Given the description of an element on the screen output the (x, y) to click on. 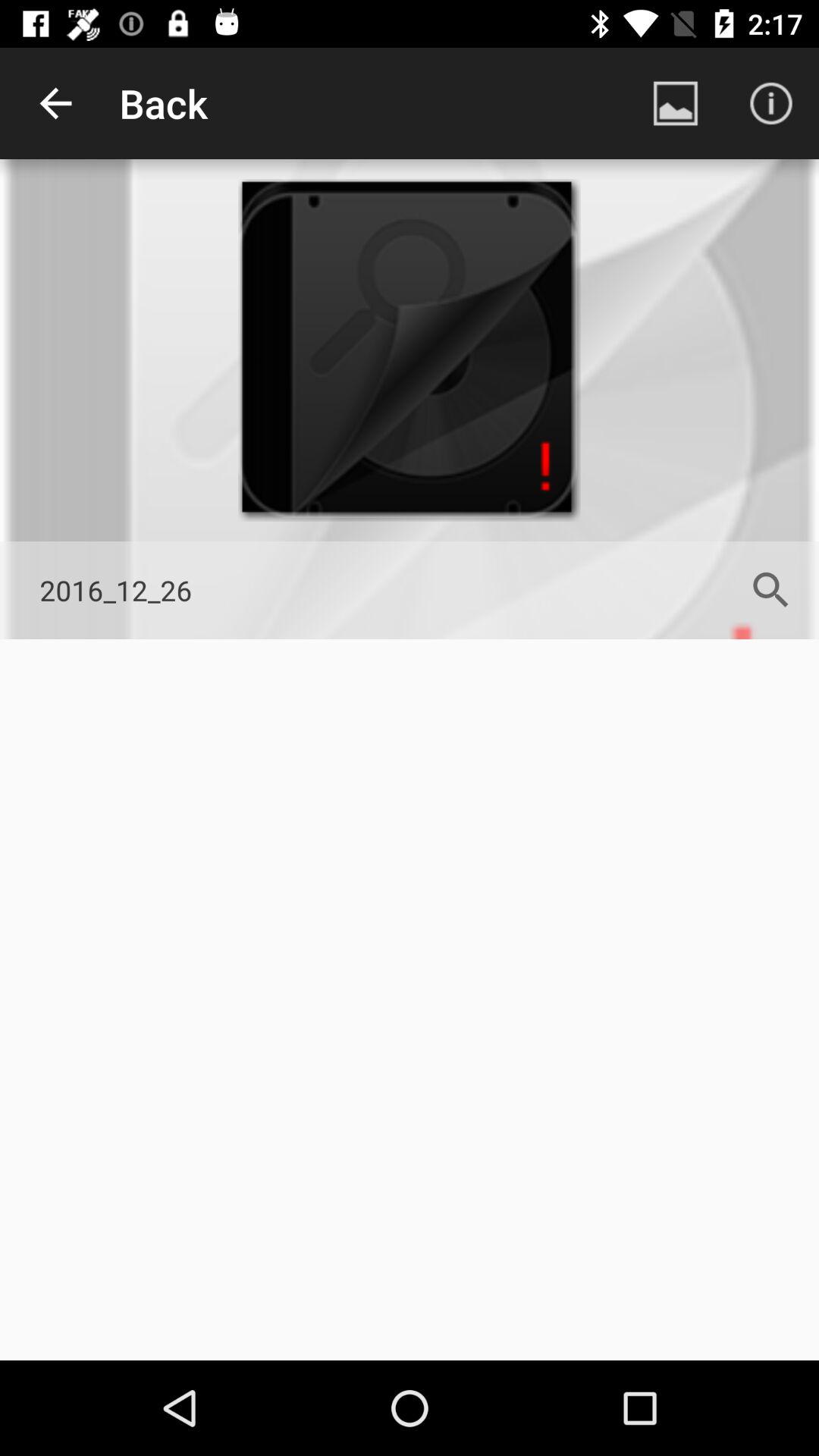
launch the app to the left of back app (55, 103)
